Given the description of an element on the screen output the (x, y) to click on. 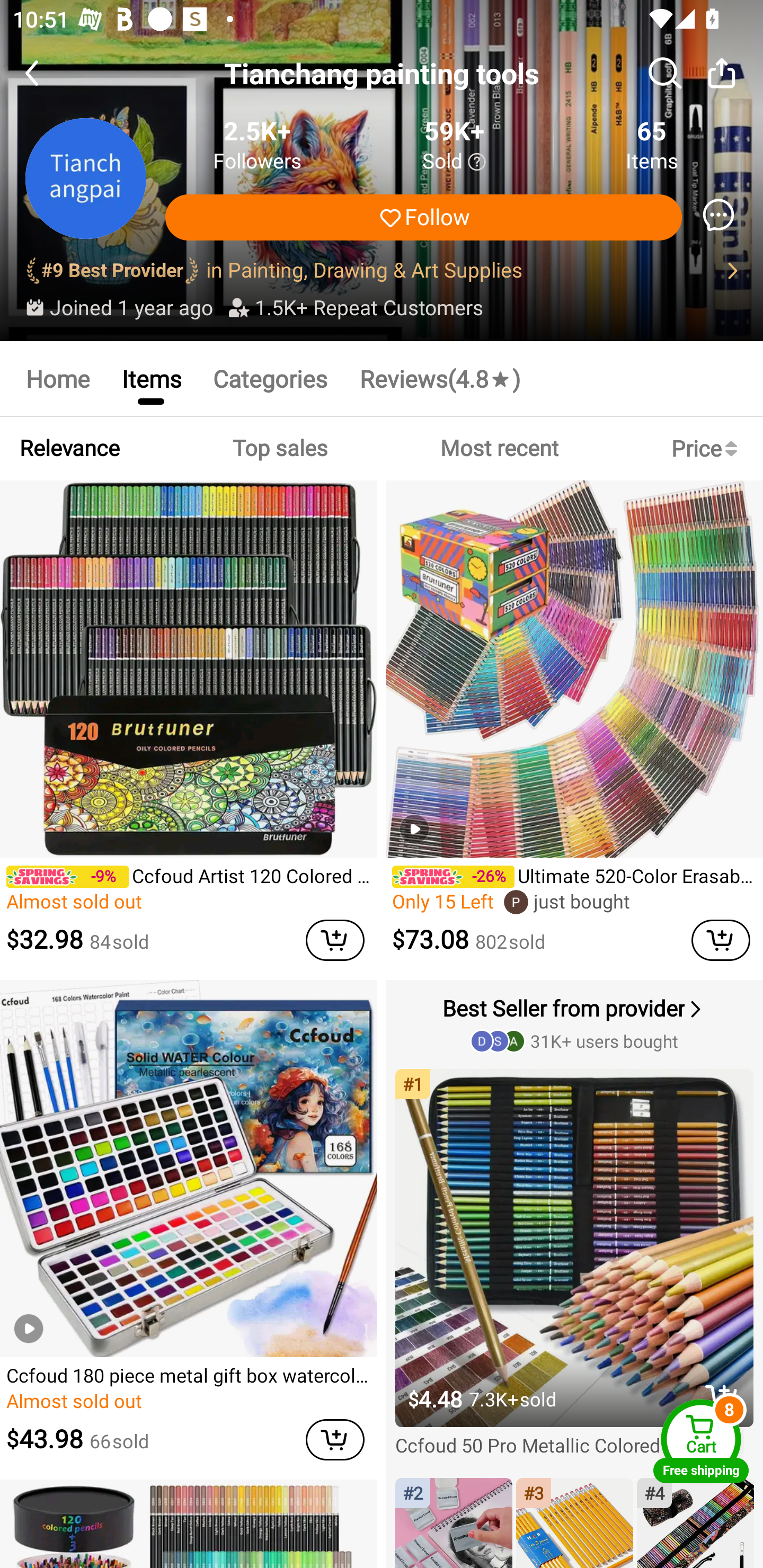
back (47, 72)
share (721, 72)
Sold (453, 161)
Home (57, 378)
Items (150, 378)
Categories (269, 378)
Reviews(4.8 ) (439, 378)
Relevance (69, 448)
Top sales (279, 448)
Most recent (498, 448)
Price (707, 448)
cart delete (334, 939)
cart delete (720, 939)
Best Seller from provider 31K+ users bought (576, 1022)
Cart Free shipping Cart (701, 1440)
cart delete (334, 1439)
#2 (453, 1523)
#3 (574, 1523)
#4 (695, 1523)
